Given the description of an element on the screen output the (x, y) to click on. 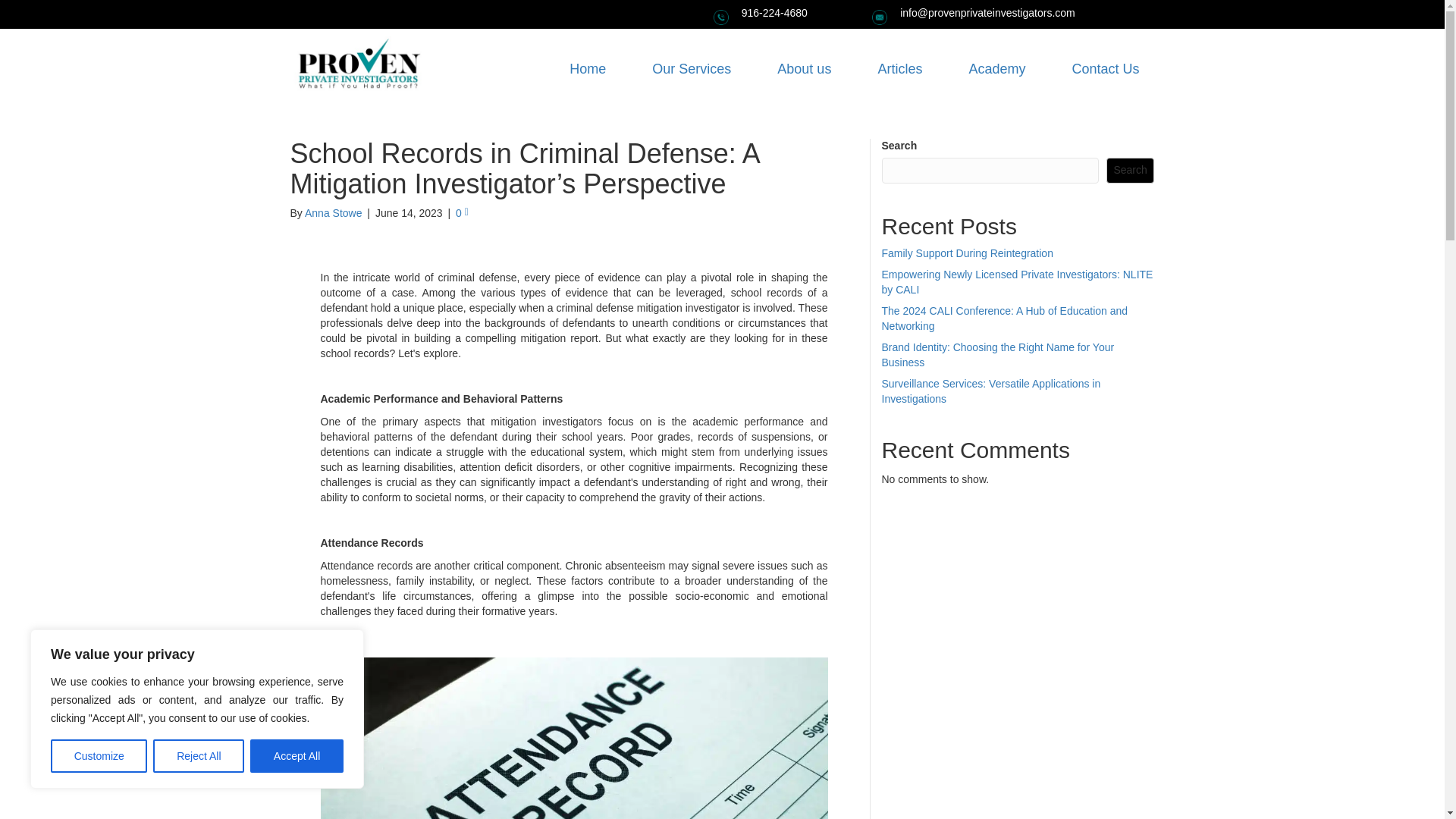
Home (587, 68)
Reject All (198, 756)
Customize (98, 756)
About us (803, 68)
Academy (996, 68)
Our Services (691, 68)
Proven Private Investigators logo web (357, 68)
Articles (899, 68)
916-224-4680 (774, 12)
Accept All (296, 756)
